Given the description of an element on the screen output the (x, y) to click on. 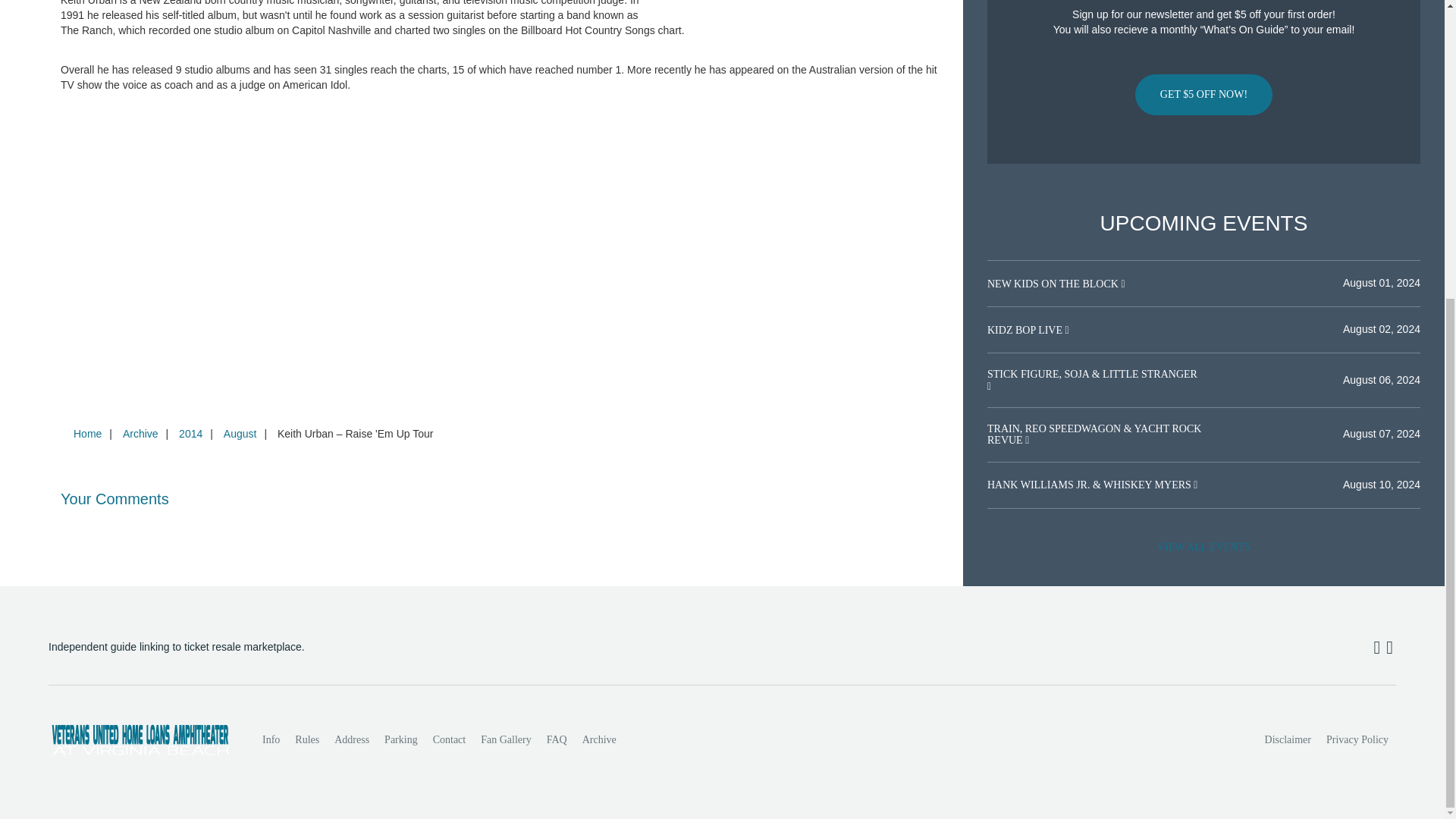
Disclaimer (1288, 739)
NEW KIDS ON THE BLOCK (1054, 283)
Privacy Policy (1357, 739)
Parking (401, 739)
VIEW ALL EVENTS (1203, 547)
FAQ (556, 739)
Home (87, 433)
Info (270, 739)
August (239, 433)
Contact (449, 739)
Rules (306, 739)
Fan Gallery (505, 739)
Address (351, 739)
Archive (140, 433)
2014 (190, 433)
